Given the description of an element on the screen output the (x, y) to click on. 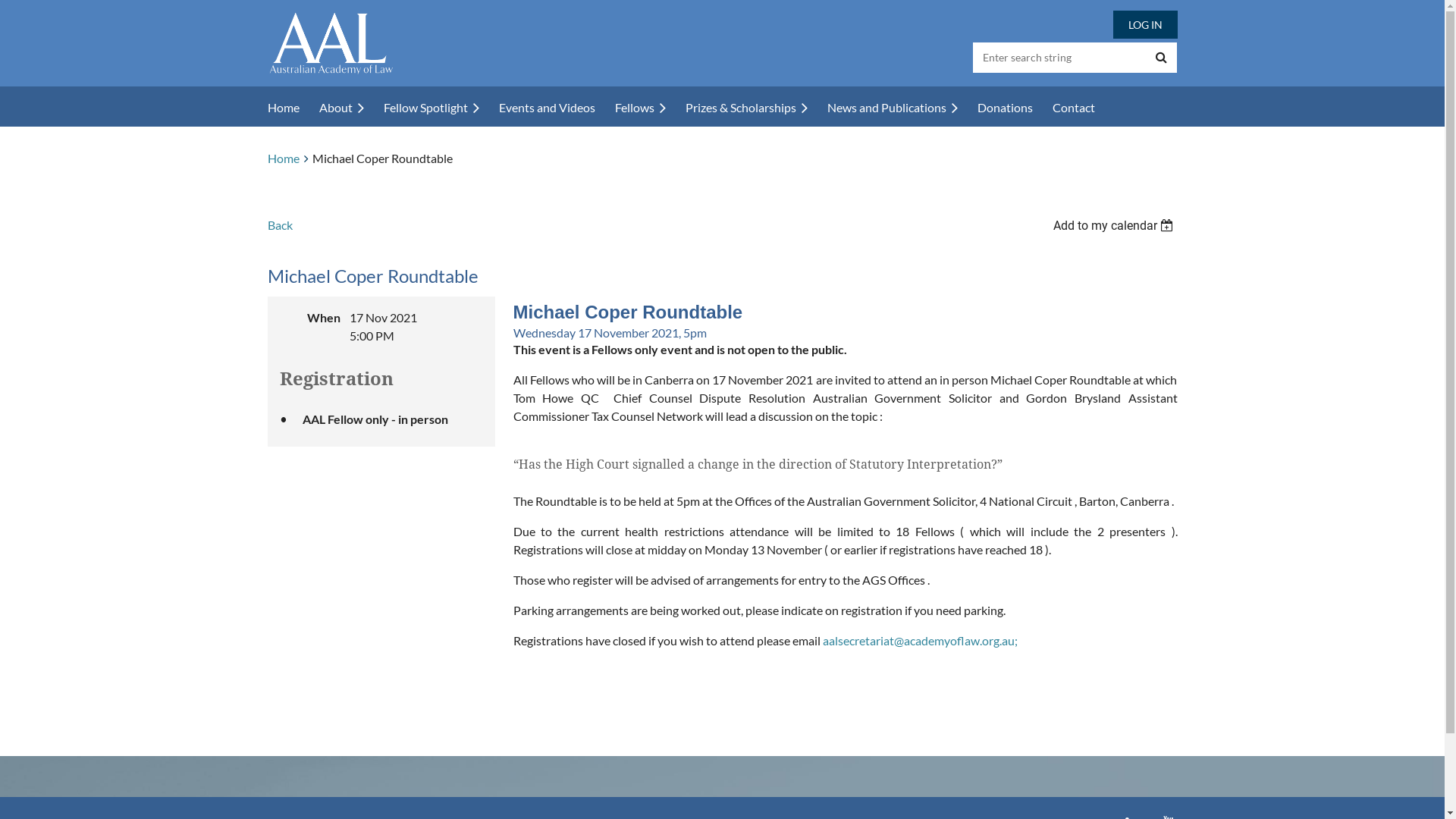
Prizes & Scholarships Element type: text (756, 107)
Fellows Element type: text (649, 107)
Search Element type: text (1161, 57)
Donations Element type: text (1013, 107)
Fellow Spotlight Element type: text (440, 107)
About Element type: text (350, 107)
Home Element type: text (292, 107)
aalsecretariat@academyoflaw.org.au; Element type: text (919, 640)
LOG IN Element type: text (1145, 24)
Contact Element type: text (1083, 107)
News and Publications Element type: text (901, 107)
Back Element type: text (278, 224)
Home Element type: text (282, 157)
Events and Videos Element type: text (556, 107)
